Given the description of an element on the screen output the (x, y) to click on. 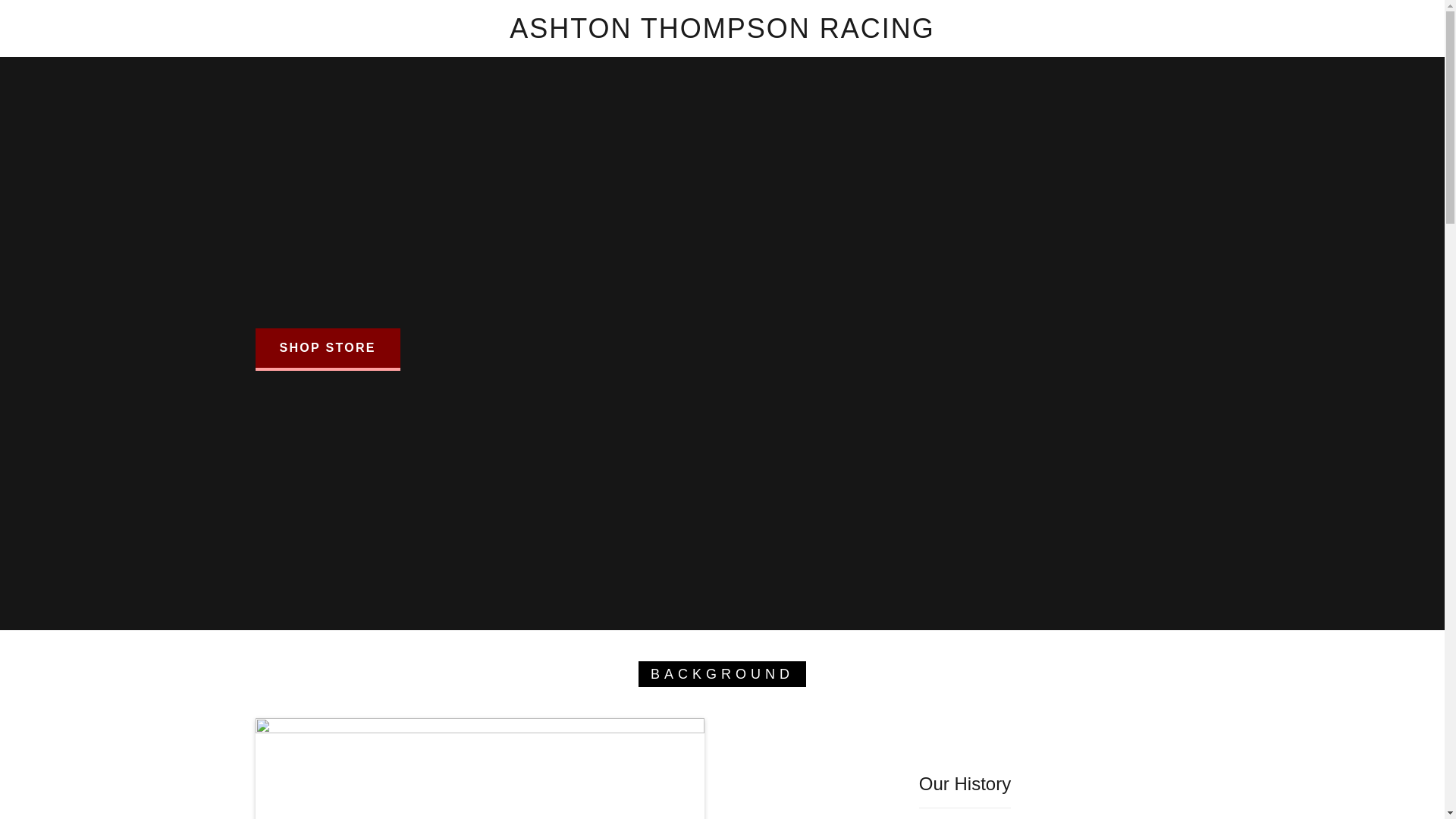
Ashton Thompson Racing (722, 32)
ASHTON THOMPSON RACING (722, 32)
SHOP STORE (326, 349)
